Given the description of an element on the screen output the (x, y) to click on. 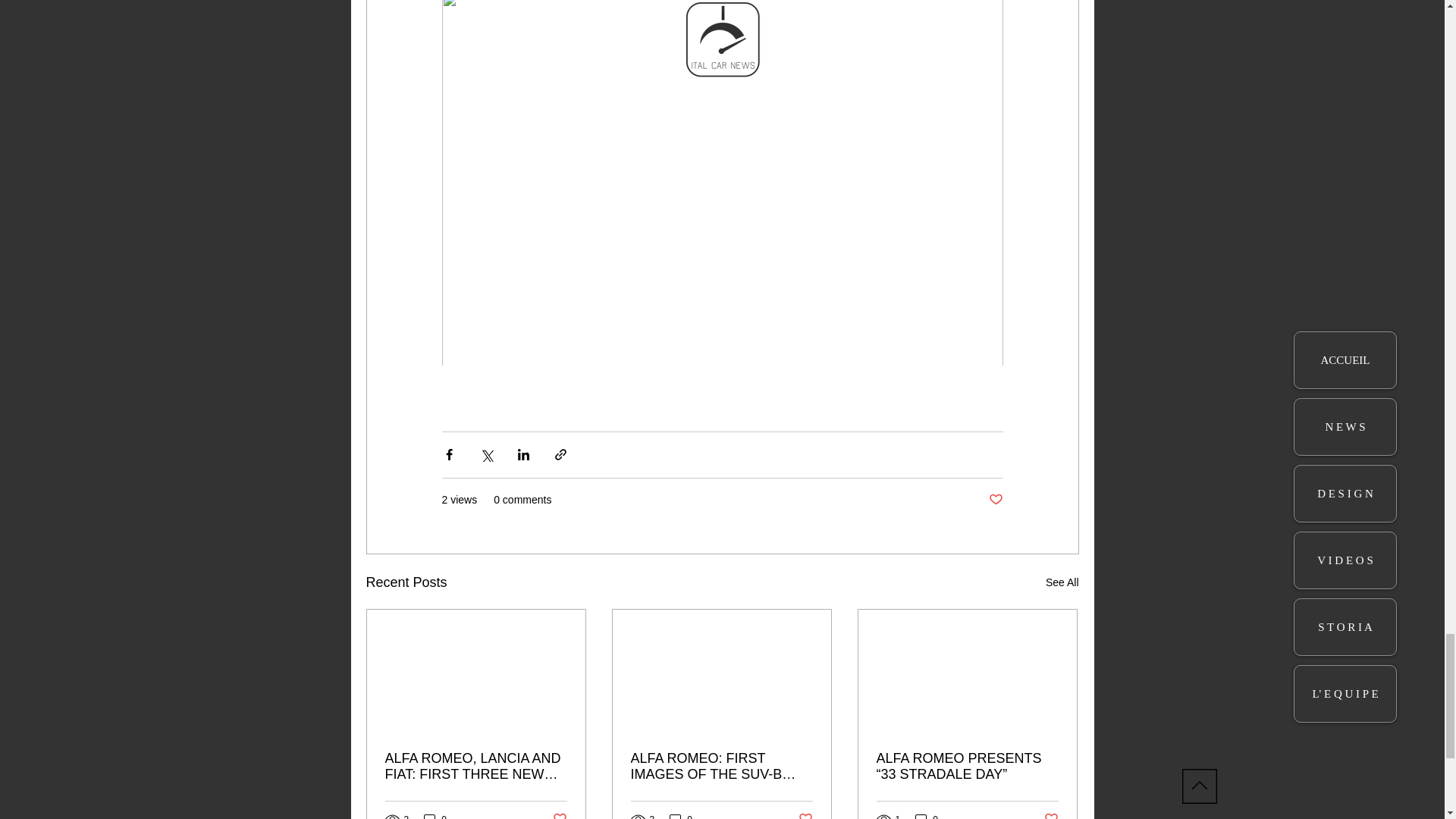
0 (435, 815)
See All (1061, 582)
Post not marked as liked (1050, 815)
Post not marked as liked (995, 499)
0 (681, 815)
ALFA ROMEO: FIRST IMAGES OF THE SUV-B FOR SEPTEMBER? (721, 766)
Post not marked as liked (558, 815)
Post not marked as liked (804, 815)
0 (926, 815)
